Given the description of an element on the screen output the (x, y) to click on. 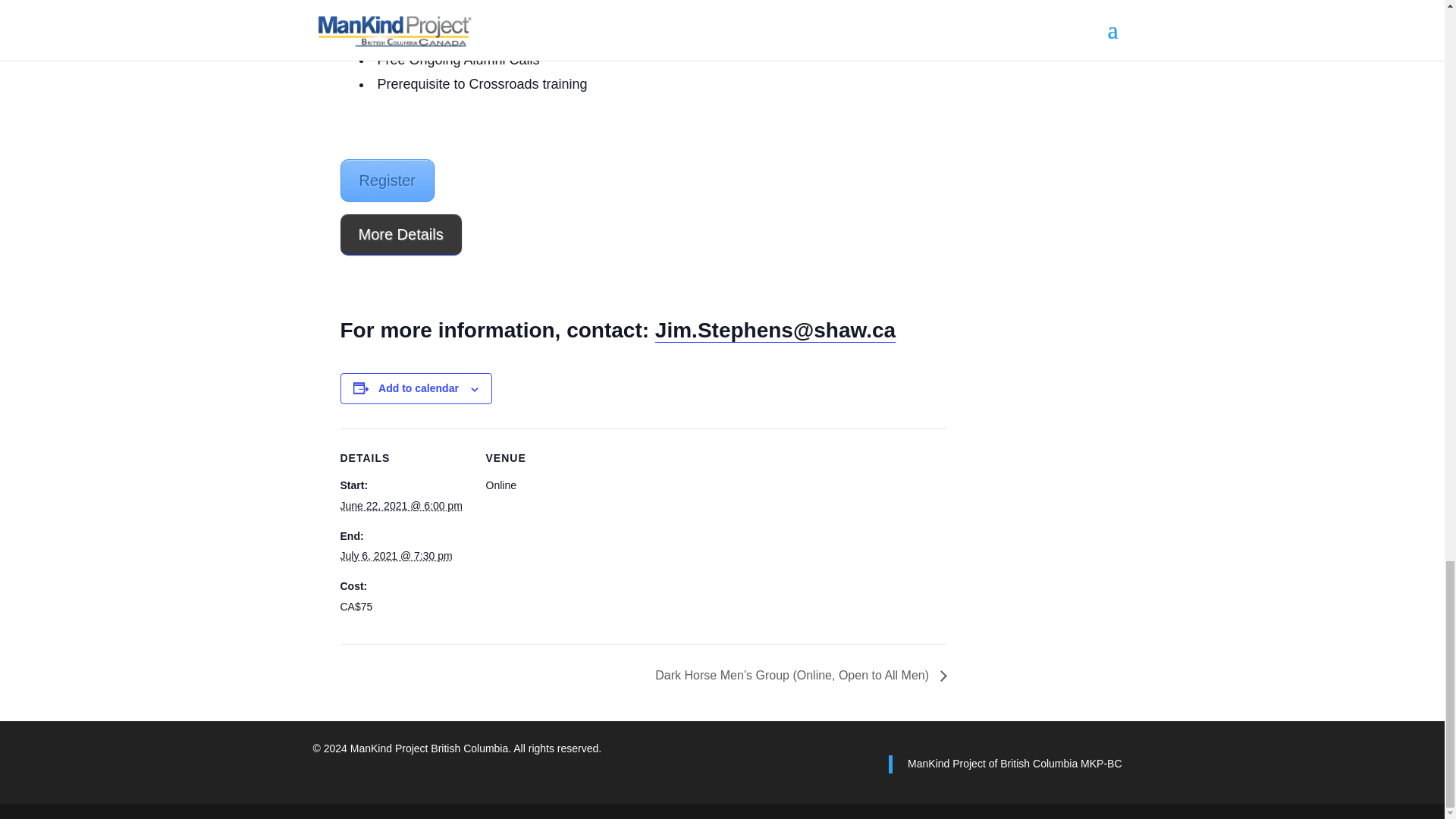
Add to calendar (418, 387)
2021-07-06 (395, 555)
More Details (400, 234)
2021-06-22 (400, 505)
Register (386, 179)
